Given the description of an element on the screen output the (x, y) to click on. 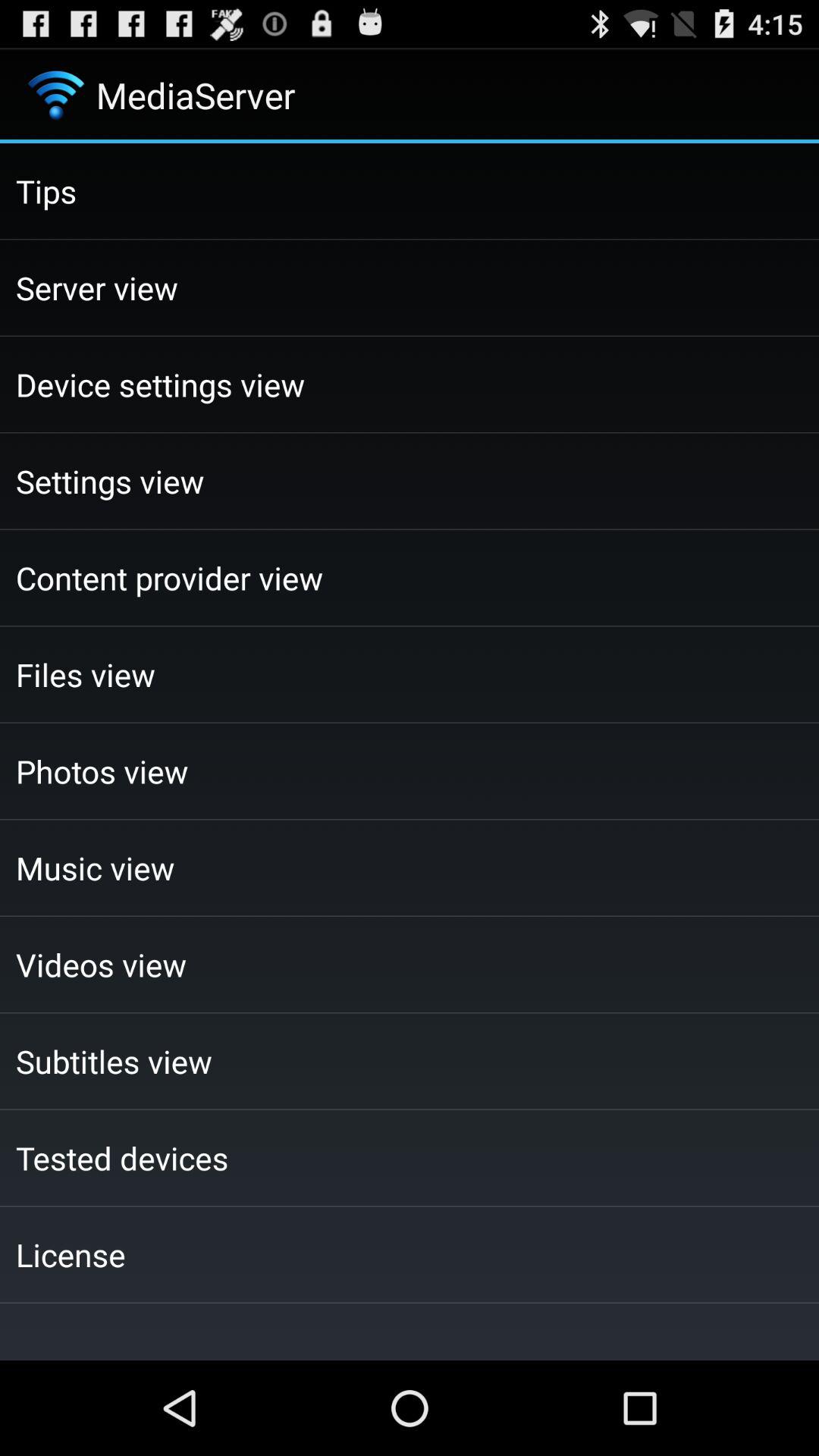
launch checkbox below the tips item (409, 287)
